Given the description of an element on the screen output the (x, y) to click on. 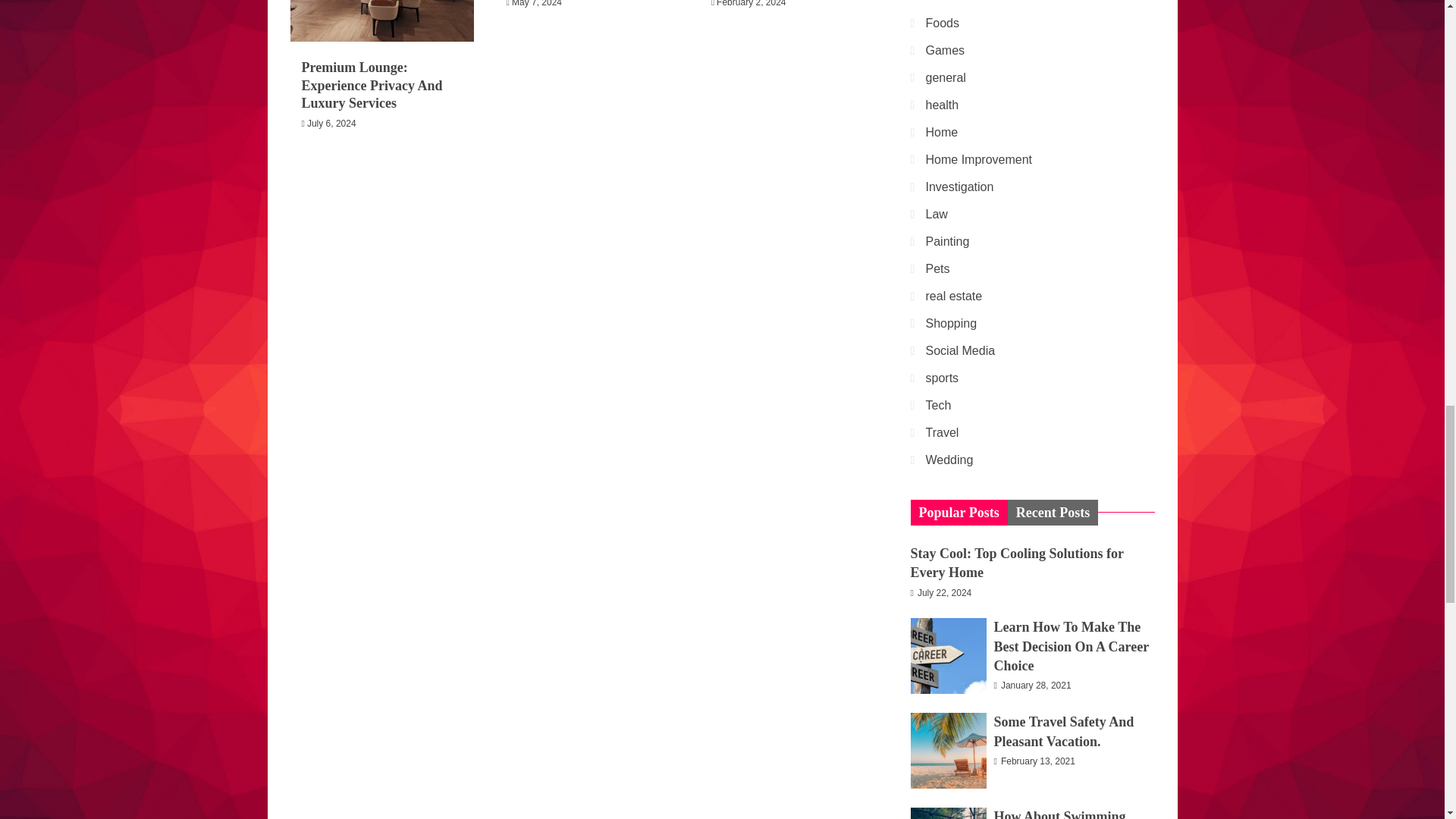
July 6, 2024 (331, 122)
Premium Lounge: Experience Privacy And Luxury Services (371, 84)
